Given the description of an element on the screen output the (x, y) to click on. 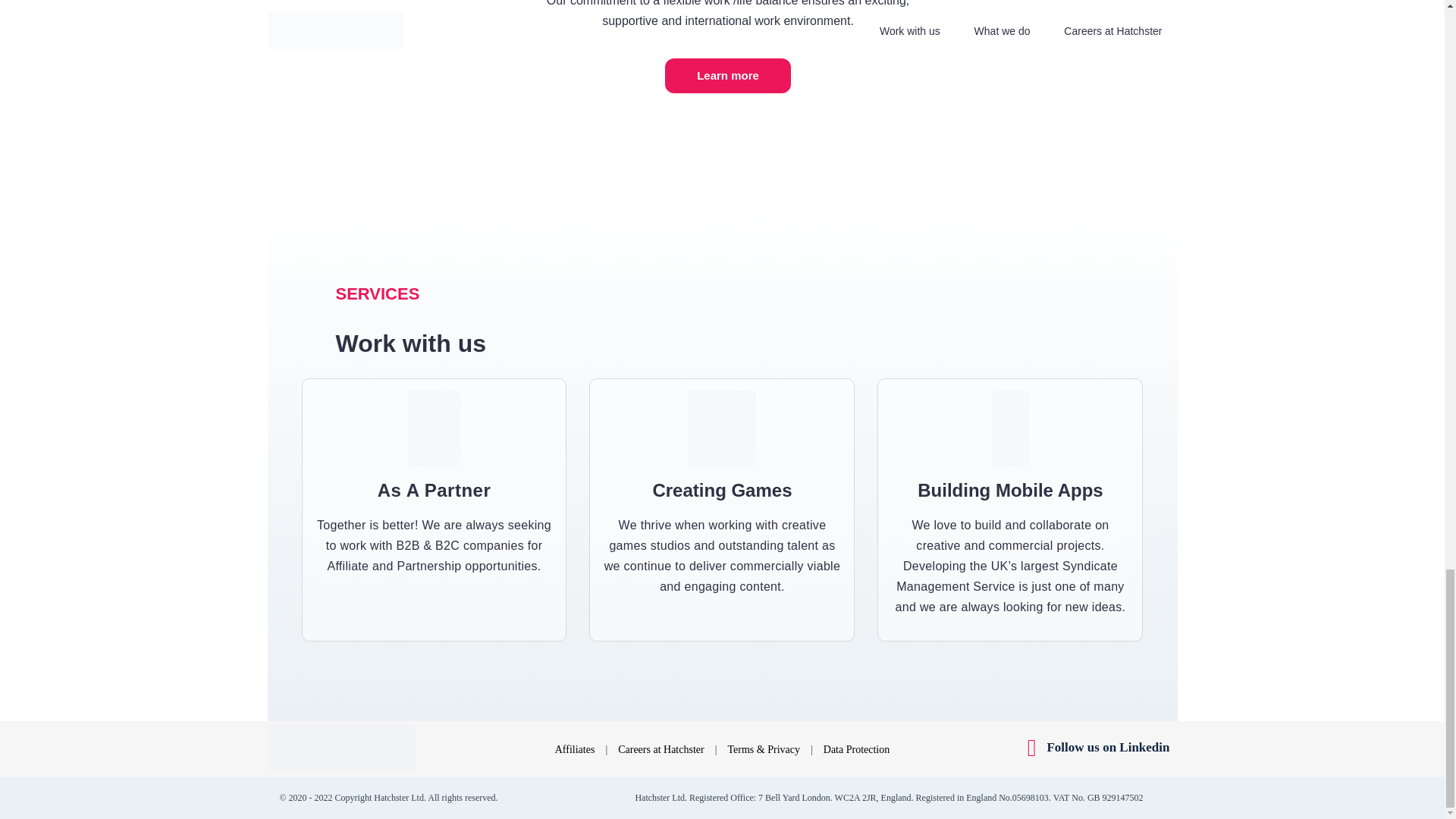
Learn more (727, 75)
Data Protection (856, 749)
Follow us on Linkedin (1102, 747)
Careers at Hatchster (660, 749)
Affiliates (574, 749)
